Given the description of an element on the screen output the (x, y) to click on. 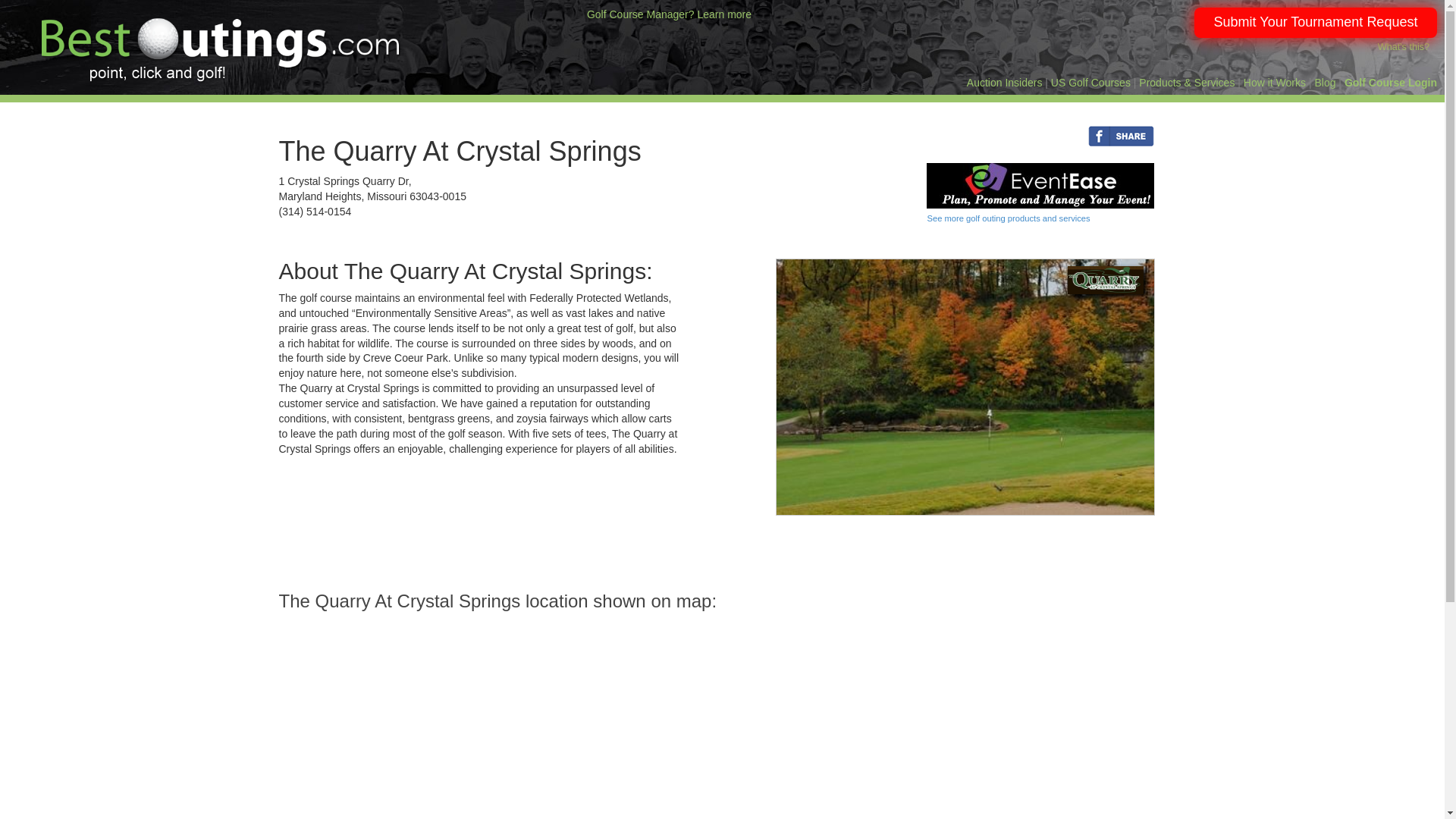
What's this? (1403, 46)
Submit Your Tournament Request (1315, 22)
United states Golf Course Directory (1091, 82)
For Golf Course Managers (1390, 82)
...and we'll send it to all of the top area golf courses! (1315, 22)
BestOutings Blog (1324, 82)
US Golf Courses (1091, 82)
Sell more outings and efficiently manage donation requests! (668, 14)
How it Works (1274, 82)
